Given the description of an element on the screen output the (x, y) to click on. 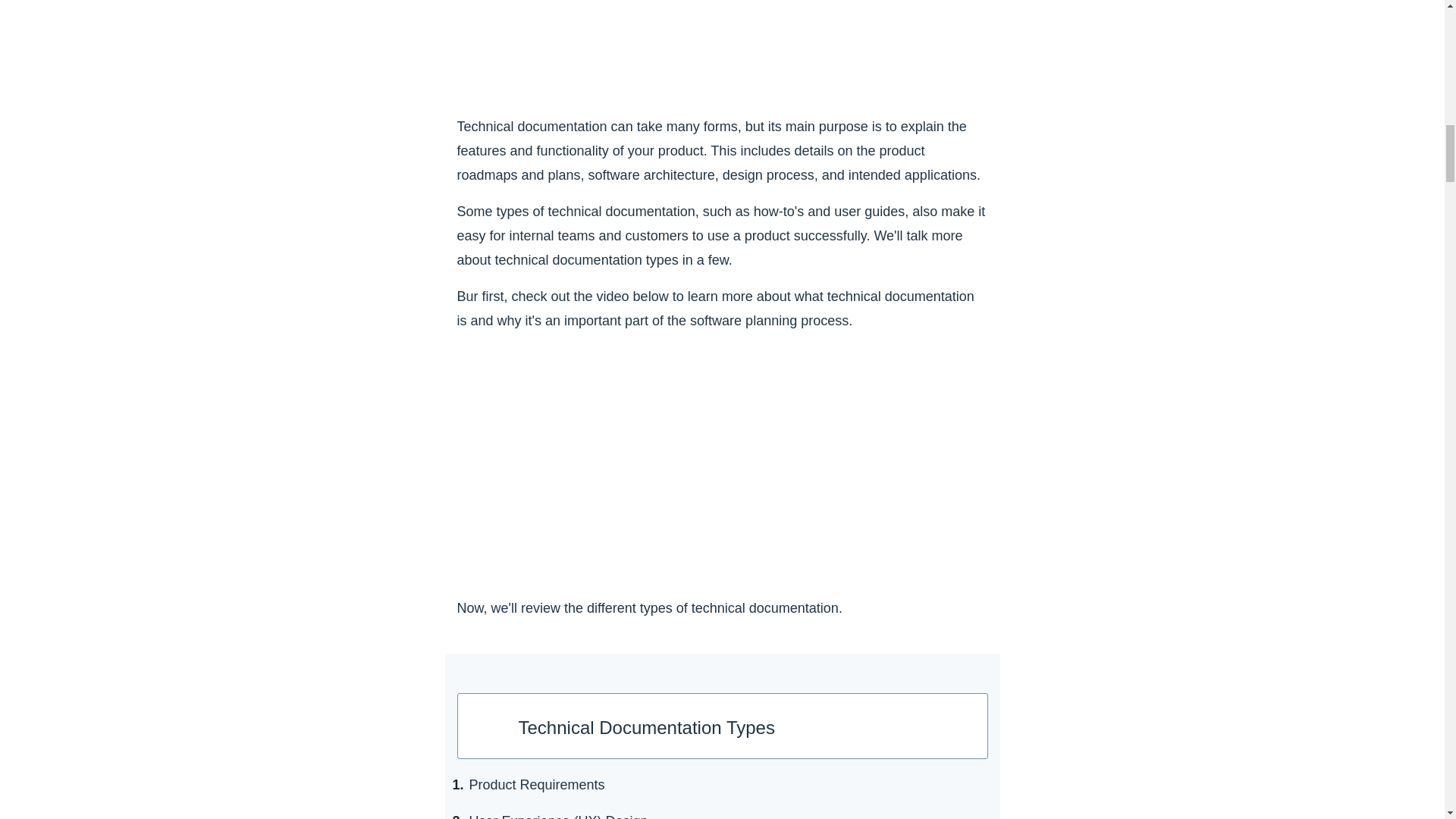
YouTube video player (721, 463)
